Given the description of an element on the screen output the (x, y) to click on. 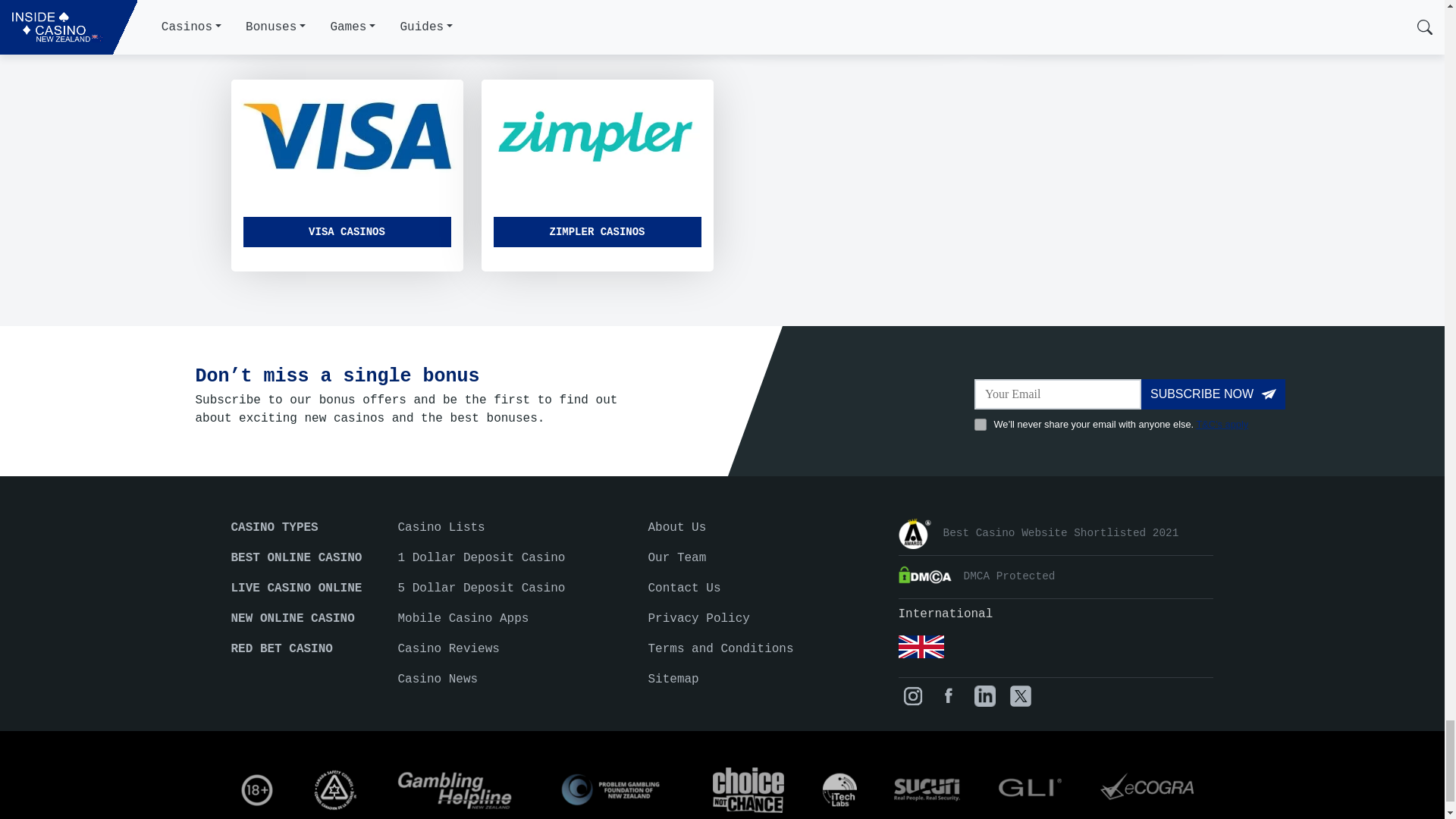
yes (980, 424)
Subscribe Now (1213, 394)
